Given the description of an element on the screen output the (x, y) to click on. 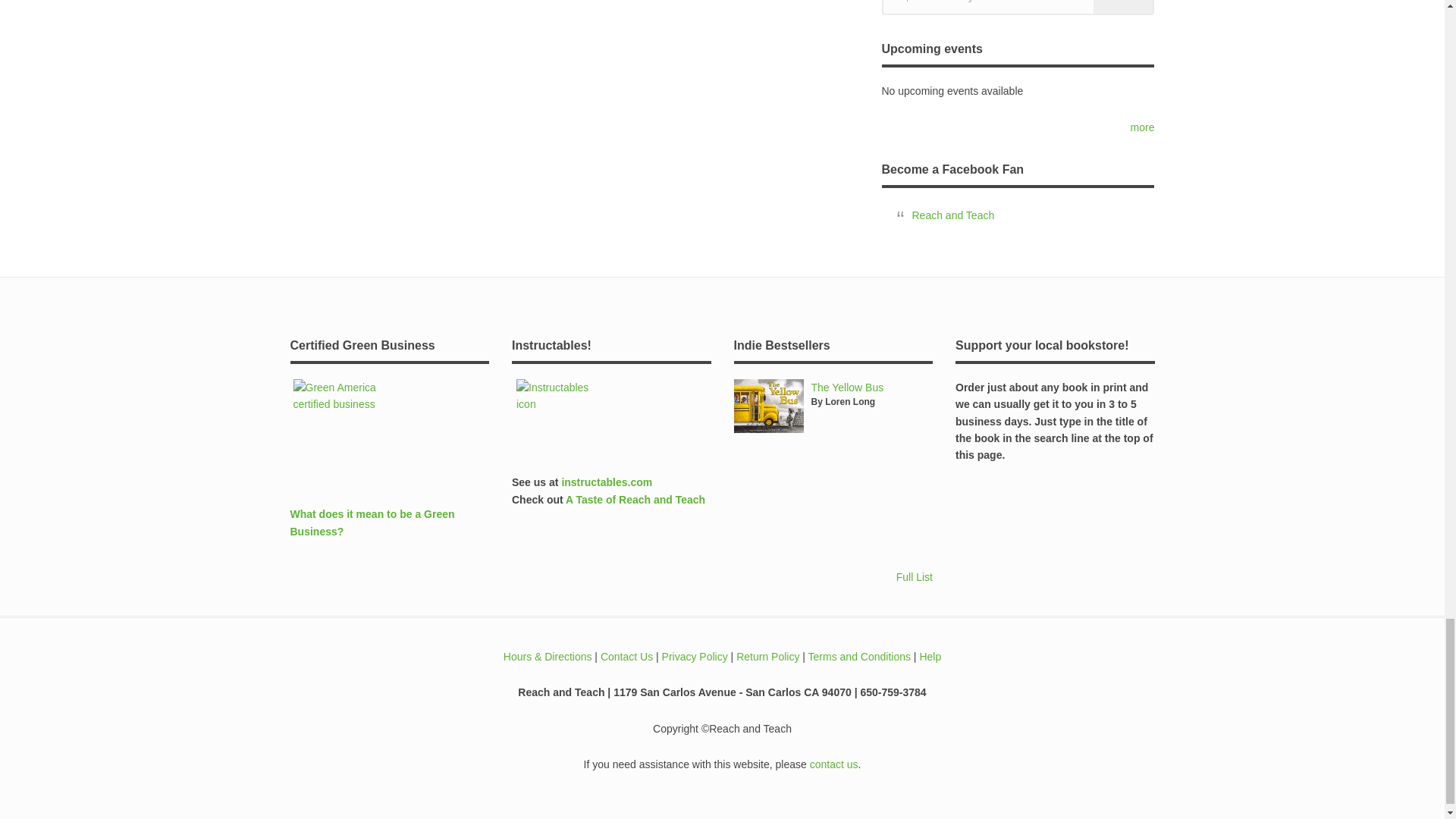
The Yellow Bus - by Loren Long (768, 406)
search (1123, 6)
Title, author or keyword... (1017, 7)
The Yellow Bus - by Loren Long (846, 387)
